Given the description of an element on the screen output the (x, y) to click on. 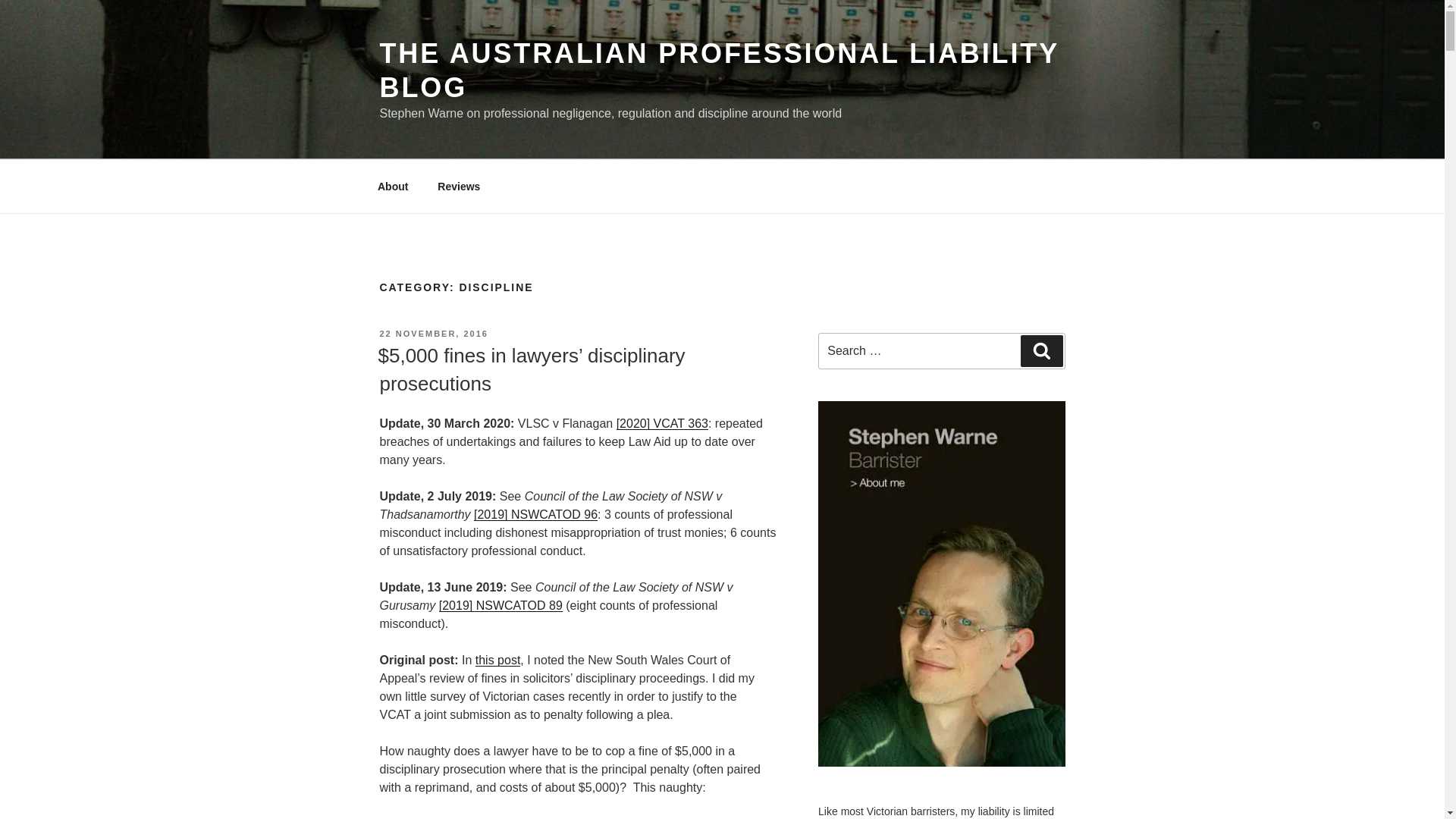
22 NOVEMBER, 2016 (432, 333)
this post (498, 659)
About (392, 186)
THE AUSTRALIAN PROFESSIONAL LIABILITY BLOG (718, 70)
Reviews (459, 186)
